Given the description of an element on the screen output the (x, y) to click on. 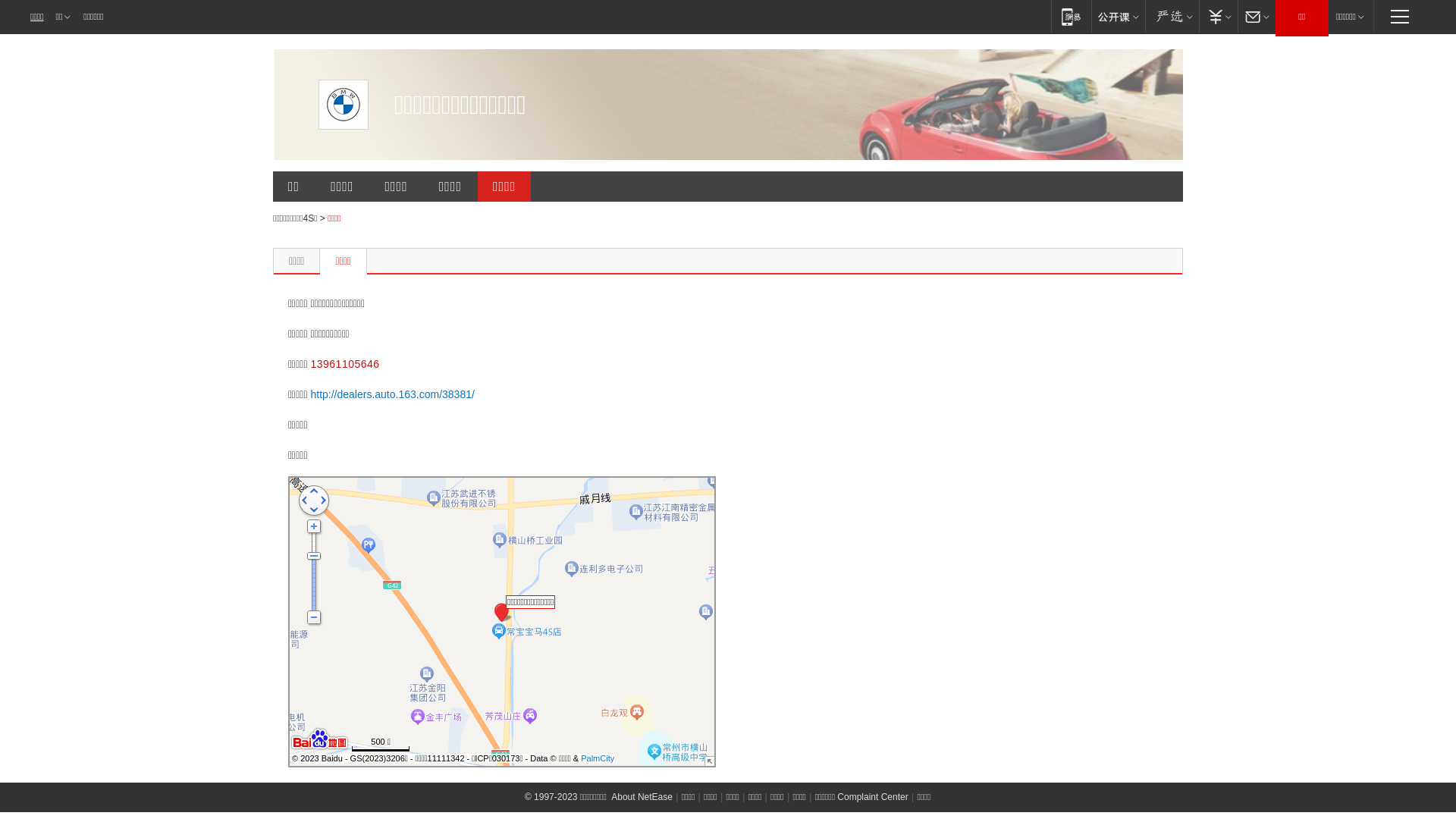
About NetEase Element type: text (641, 796)
PalmCity Element type: text (597, 757)
http://dealers.auto.163.com/38381/ Element type: text (391, 394)
